Given the description of an element on the screen output the (x, y) to click on. 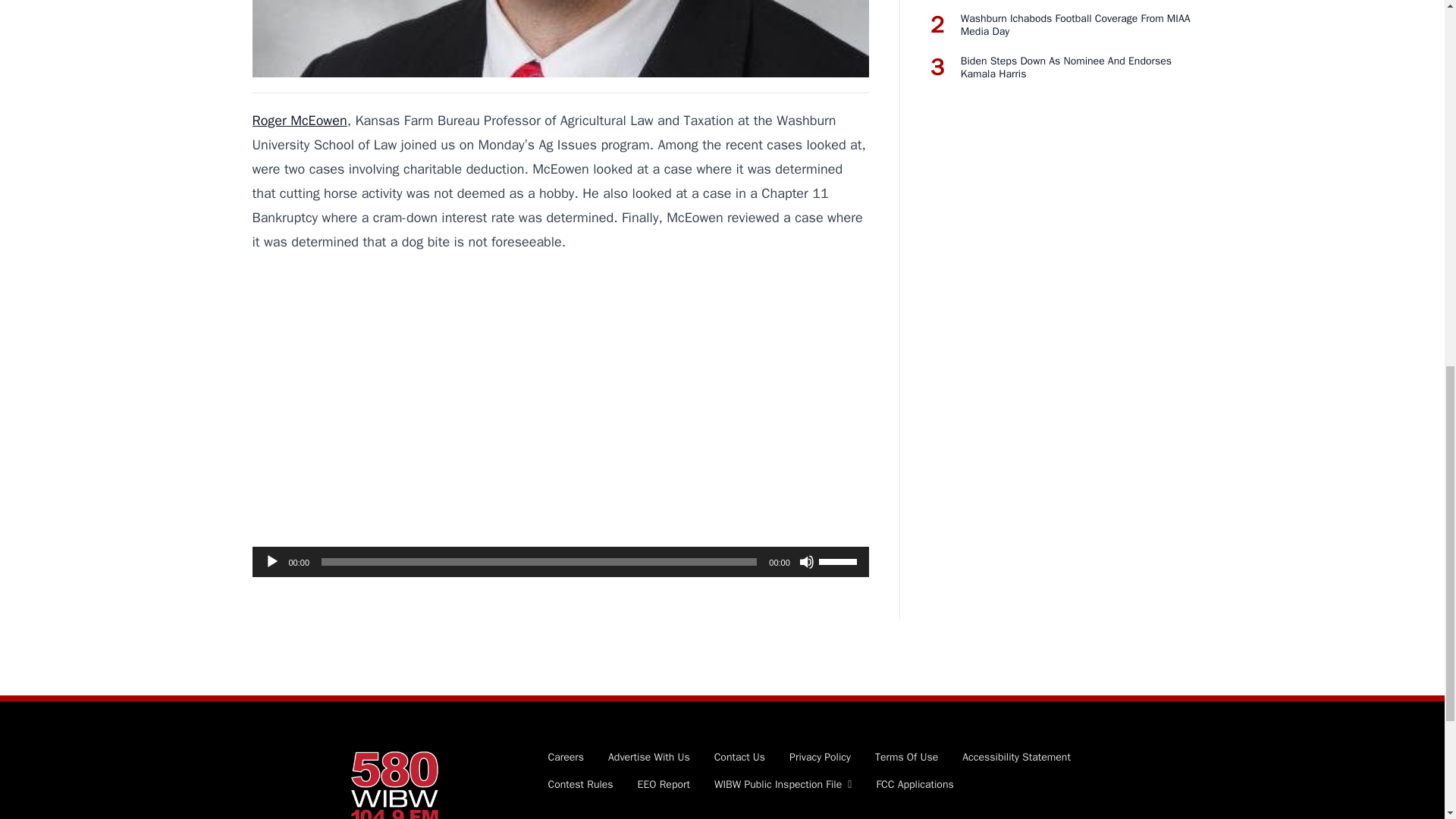
Mute (806, 561)
3rd party ad content (560, 421)
Play (271, 561)
